Given the description of an element on the screen output the (x, y) to click on. 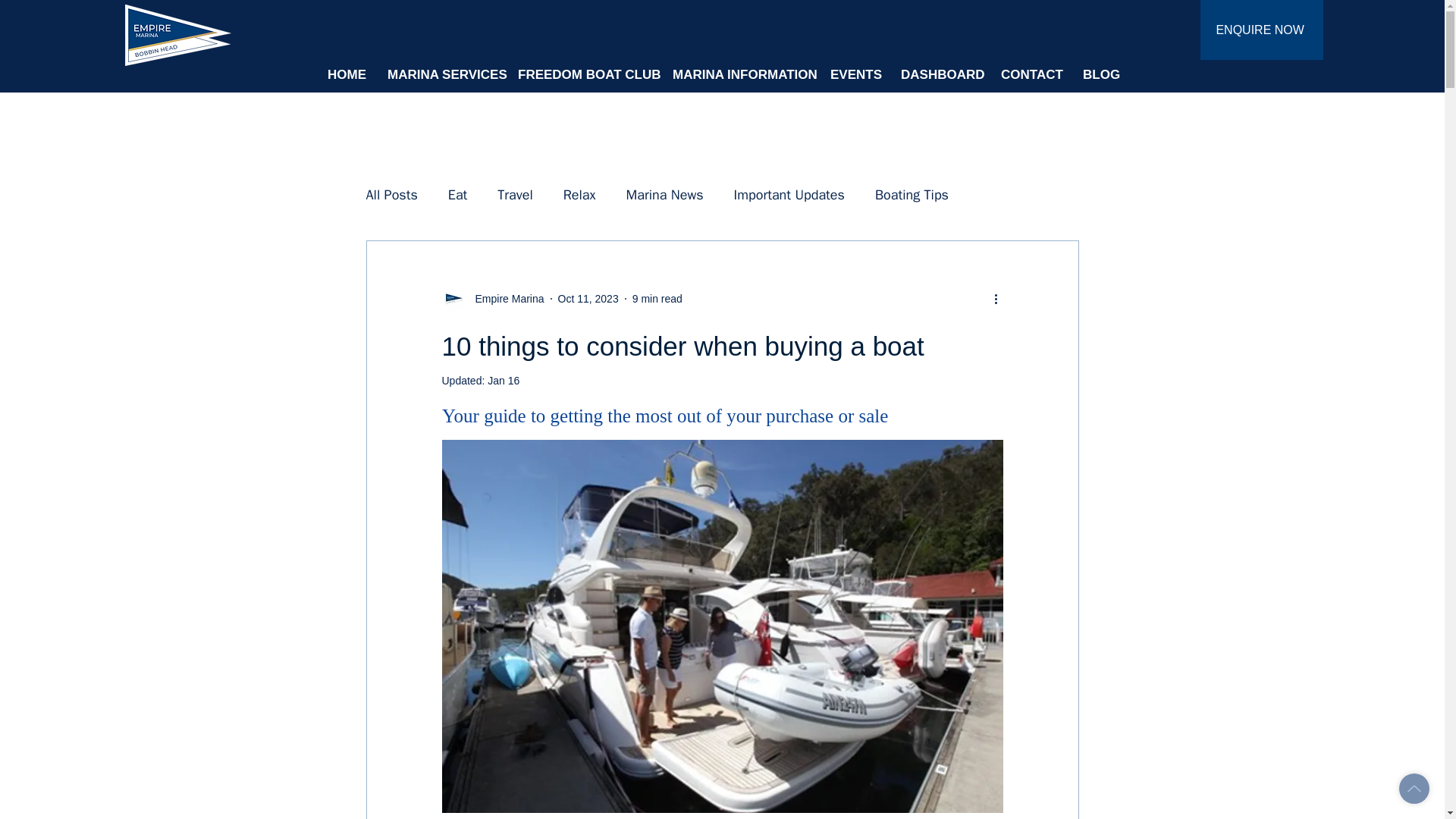
Important Updates (788, 194)
Eat (457, 194)
HOME (345, 74)
MARINA SERVICES (440, 74)
Boating Tips (912, 194)
9 min read (656, 298)
Marina News (664, 194)
ENQUIRE NOW (1261, 29)
FREEDOM BOAT CLUB (583, 74)
All Posts (390, 194)
Travel (514, 194)
Relax (579, 194)
CONTACT (1030, 74)
Jan 16 (503, 380)
BLOG (1099, 74)
